Given the description of an element on the screen output the (x, y) to click on. 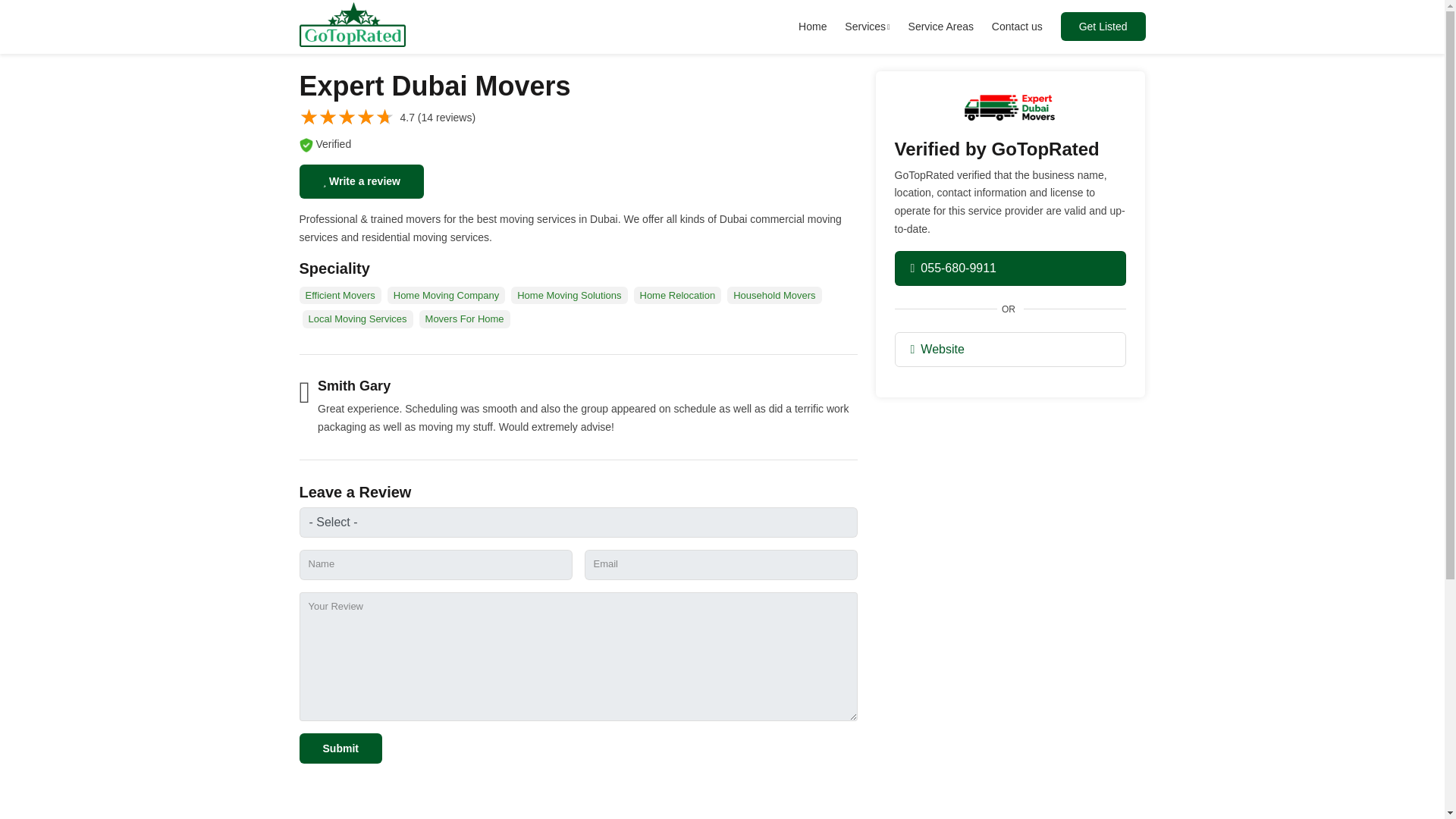
Home (312, 11)
Expert Dubai Movers (392, 11)
Contact us (1016, 27)
Submit (339, 748)
Get Listed (1103, 26)
Service Areas (941, 27)
